Given the description of an element on the screen output the (x, y) to click on. 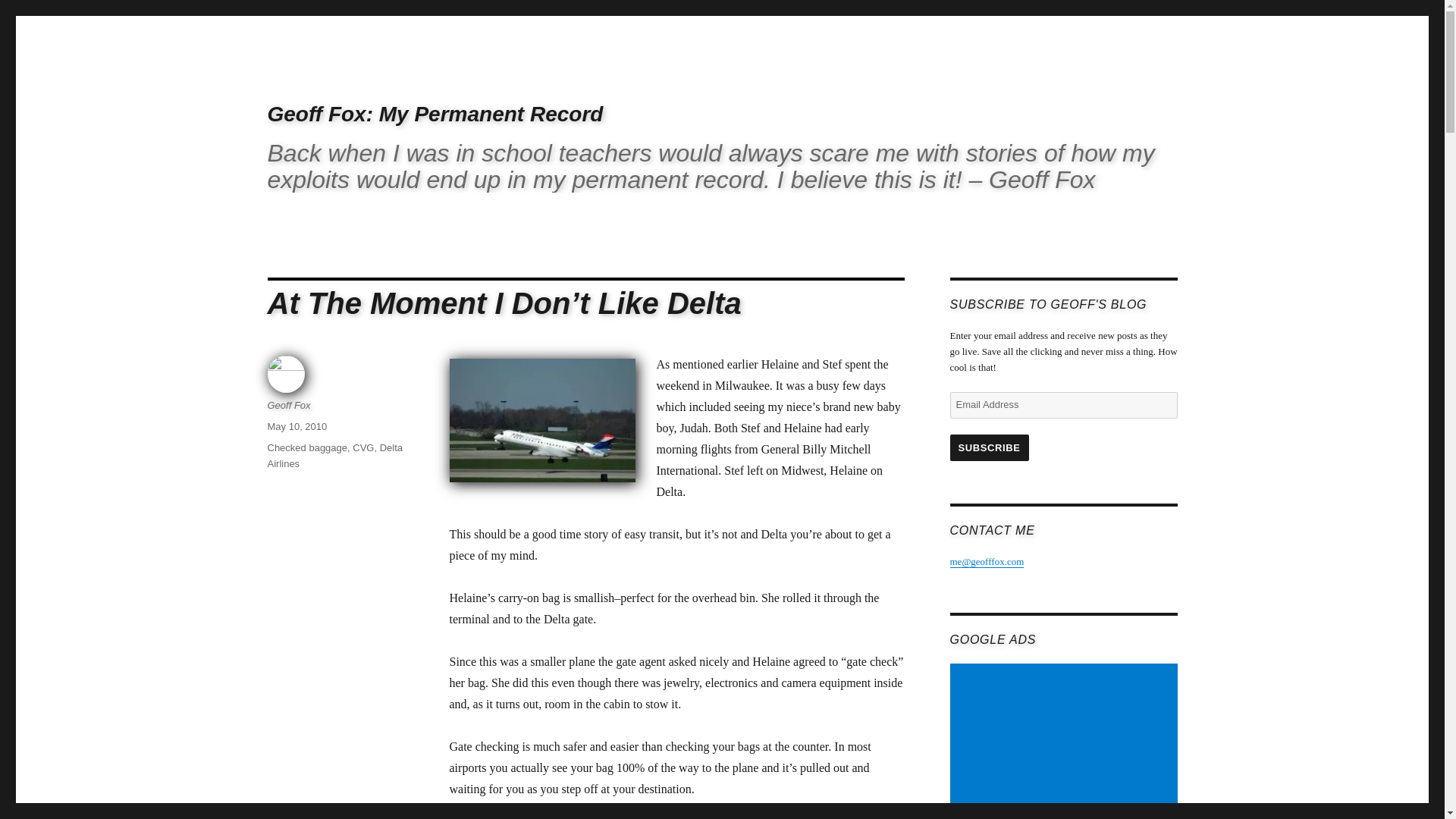
delta-connection-crj-2 (541, 420)
Geoff Fox (288, 405)
Delta Airlines (334, 455)
CVG (363, 447)
May 10, 2010 (296, 426)
Checked baggage (306, 447)
Geoff Fox: My Permanent Record (434, 114)
